Given the description of an element on the screen output the (x, y) to click on. 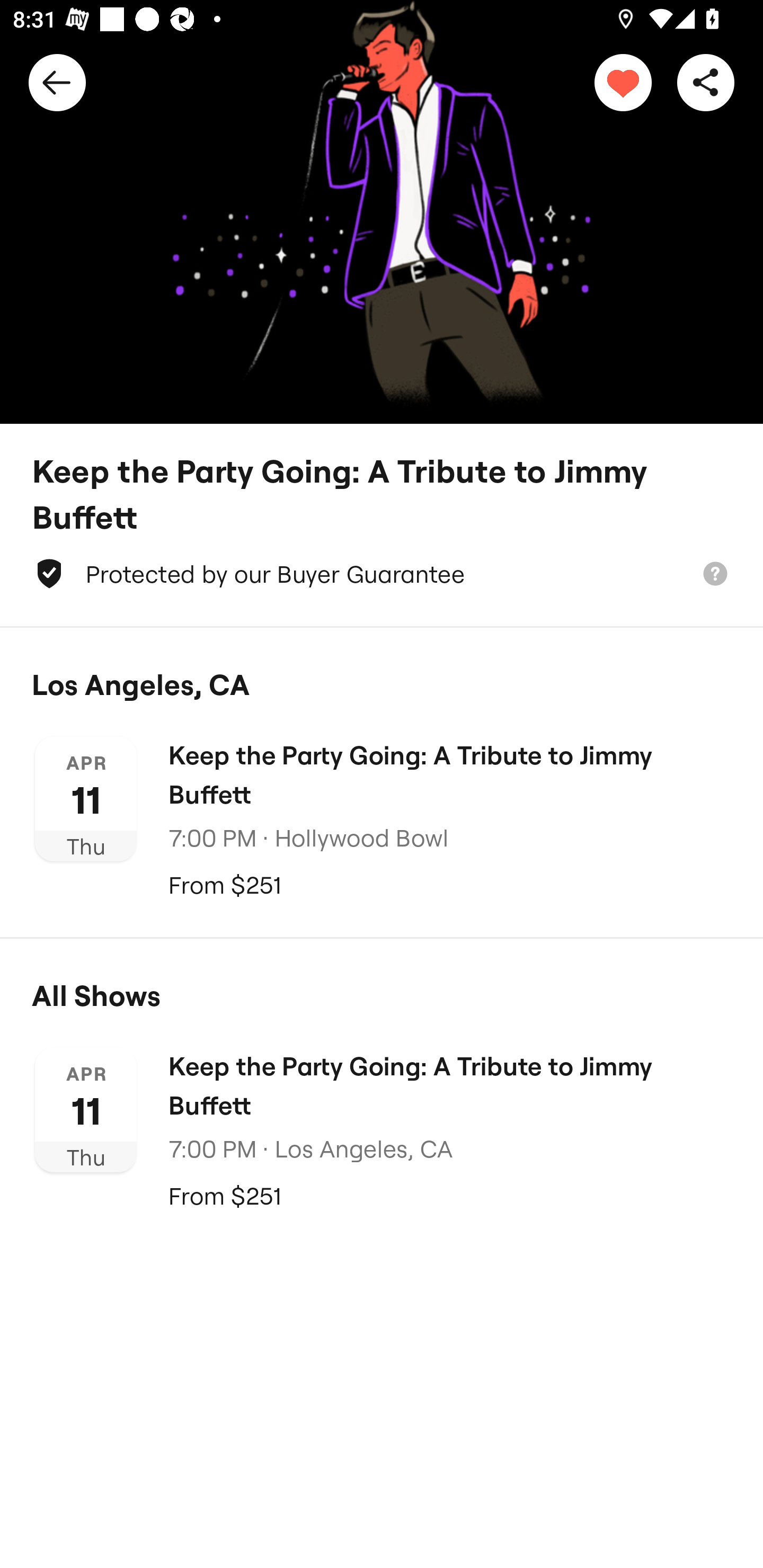
Back (57, 81)
Track this performer (623, 81)
Share this performer (705, 81)
Protected by our Buyer Guarantee Learn more (381, 573)
